Given the description of an element on the screen output the (x, y) to click on. 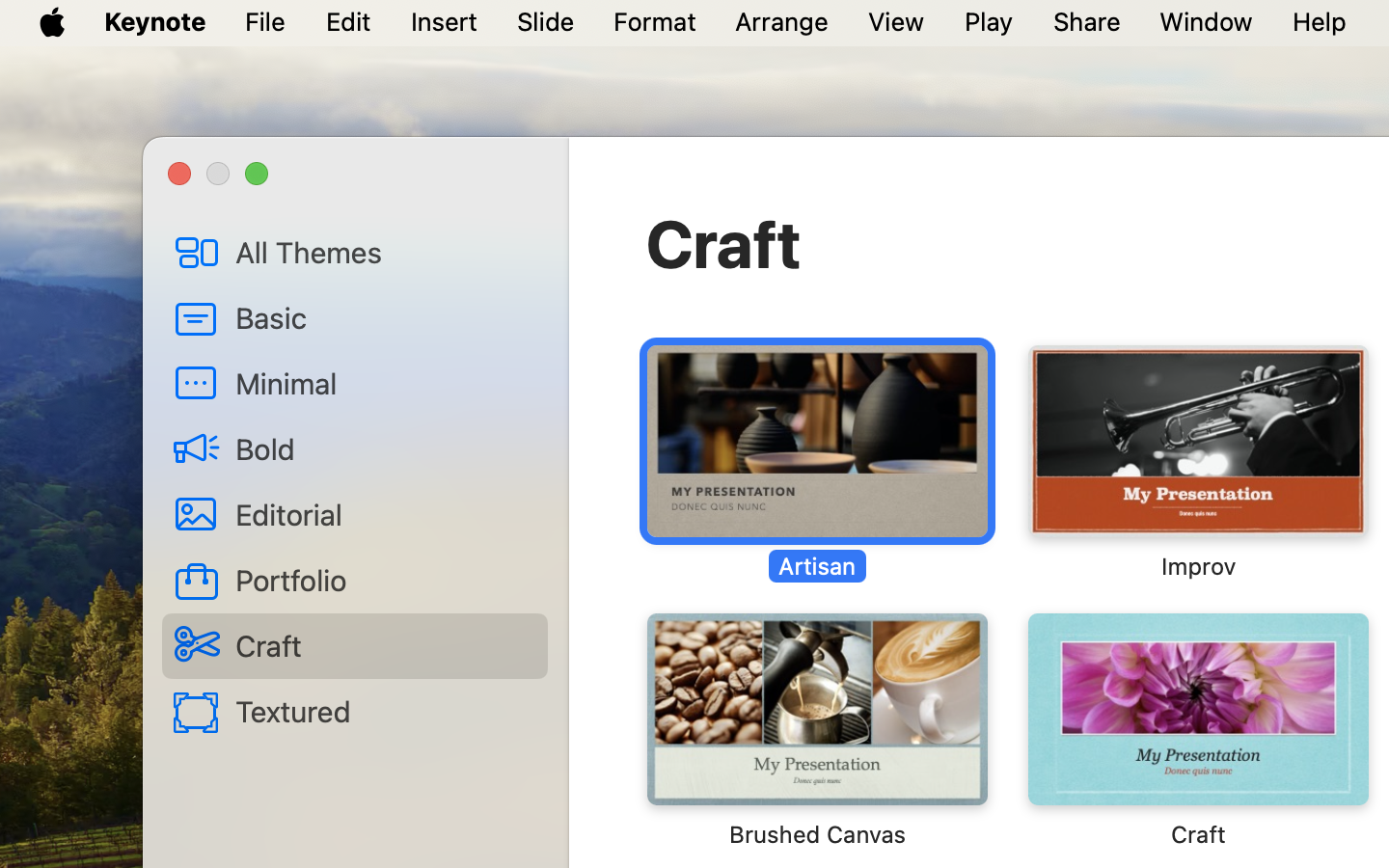
‎⁨Brushed Canvas⁩ Element type: AXButton (816, 731)
Basic Element type: AXStaticText (383, 316)
